Given the description of an element on the screen output the (x, y) to click on. 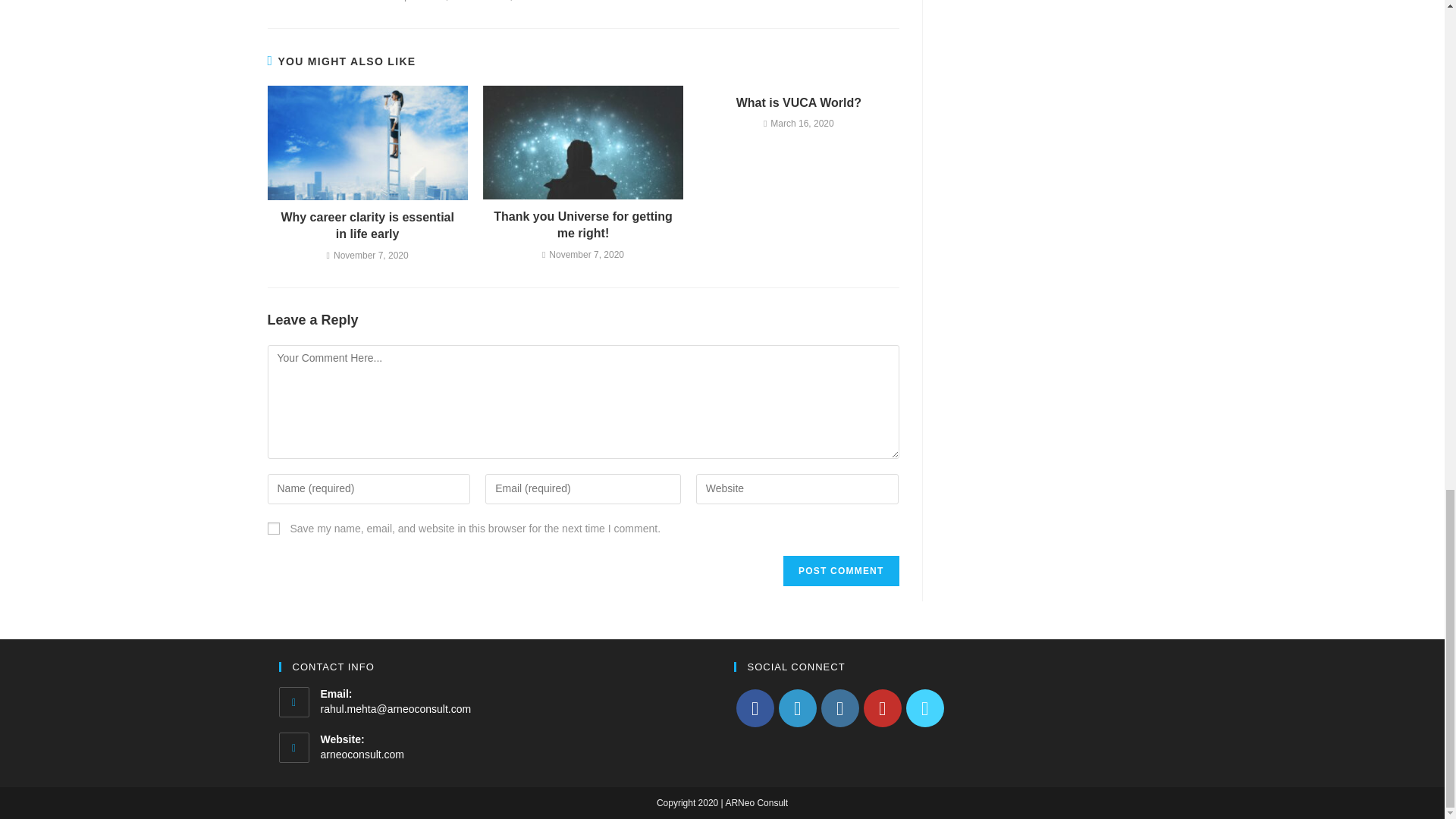
Why career clarity is essential in life early (367, 226)
Twitter (924, 708)
Youtube (882, 708)
Thank you Universe for getting me right! (583, 225)
Facebook (754, 708)
yes (272, 528)
Post Comment (840, 571)
What is VUCA World? (798, 103)
Instagram (840, 708)
Post Comment (840, 571)
LinkedIn (796, 708)
Why career clarity is essential in life early (367, 226)
What is VUCA World? (798, 103)
Thank you Universe for getting me right! (583, 225)
arneoconsult.com (362, 754)
